Given the description of an element on the screen output the (x, y) to click on. 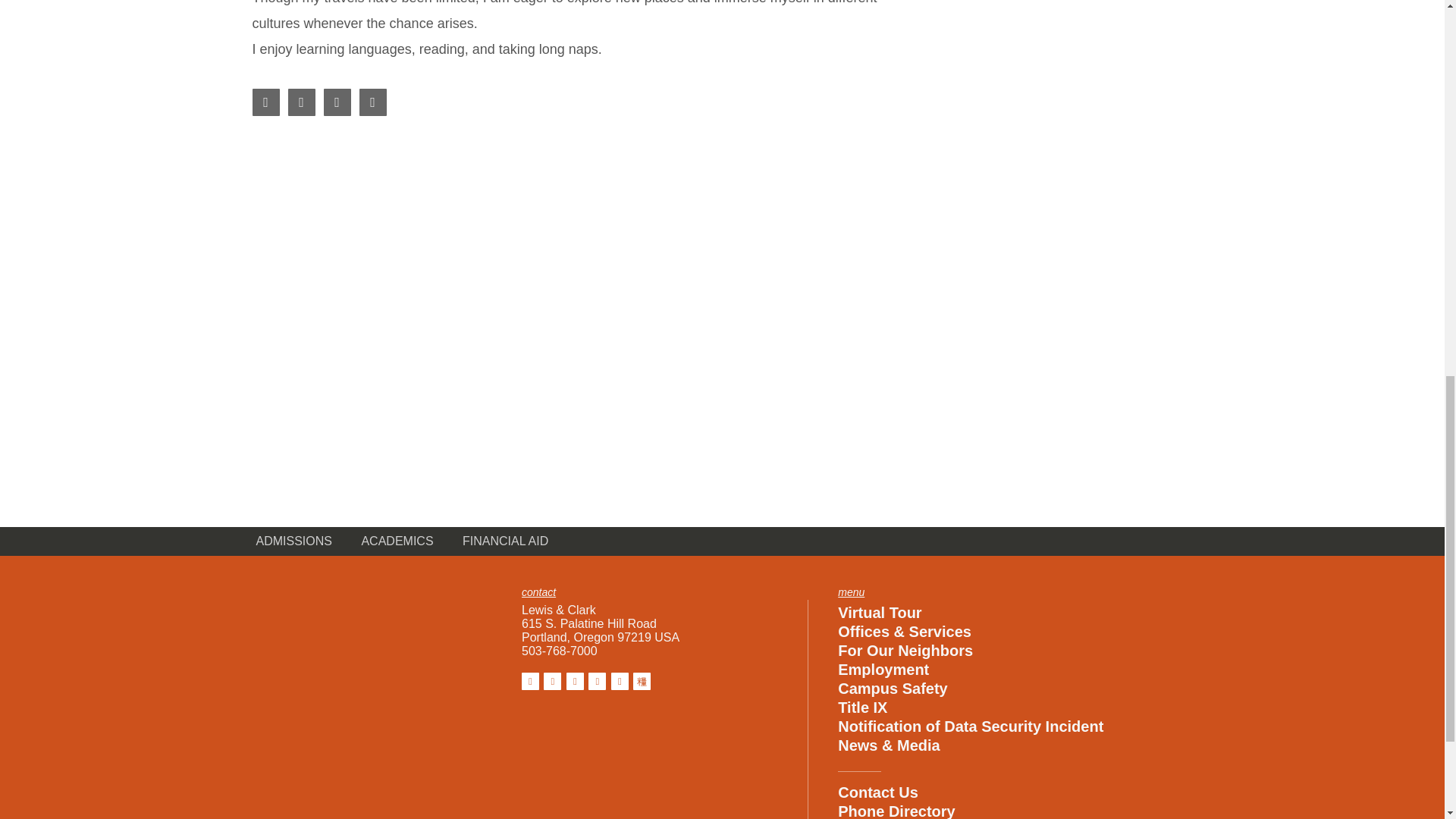
View our Facebook page (529, 681)
View our YouTube (619, 681)
Share on Twitter (336, 102)
Share via email (373, 102)
View our TikTok (641, 681)
View our LinkedIn (596, 681)
Share on Facebook (265, 102)
View our Twitter (574, 681)
View our Instagram (551, 681)
